Given the description of an element on the screen output the (x, y) to click on. 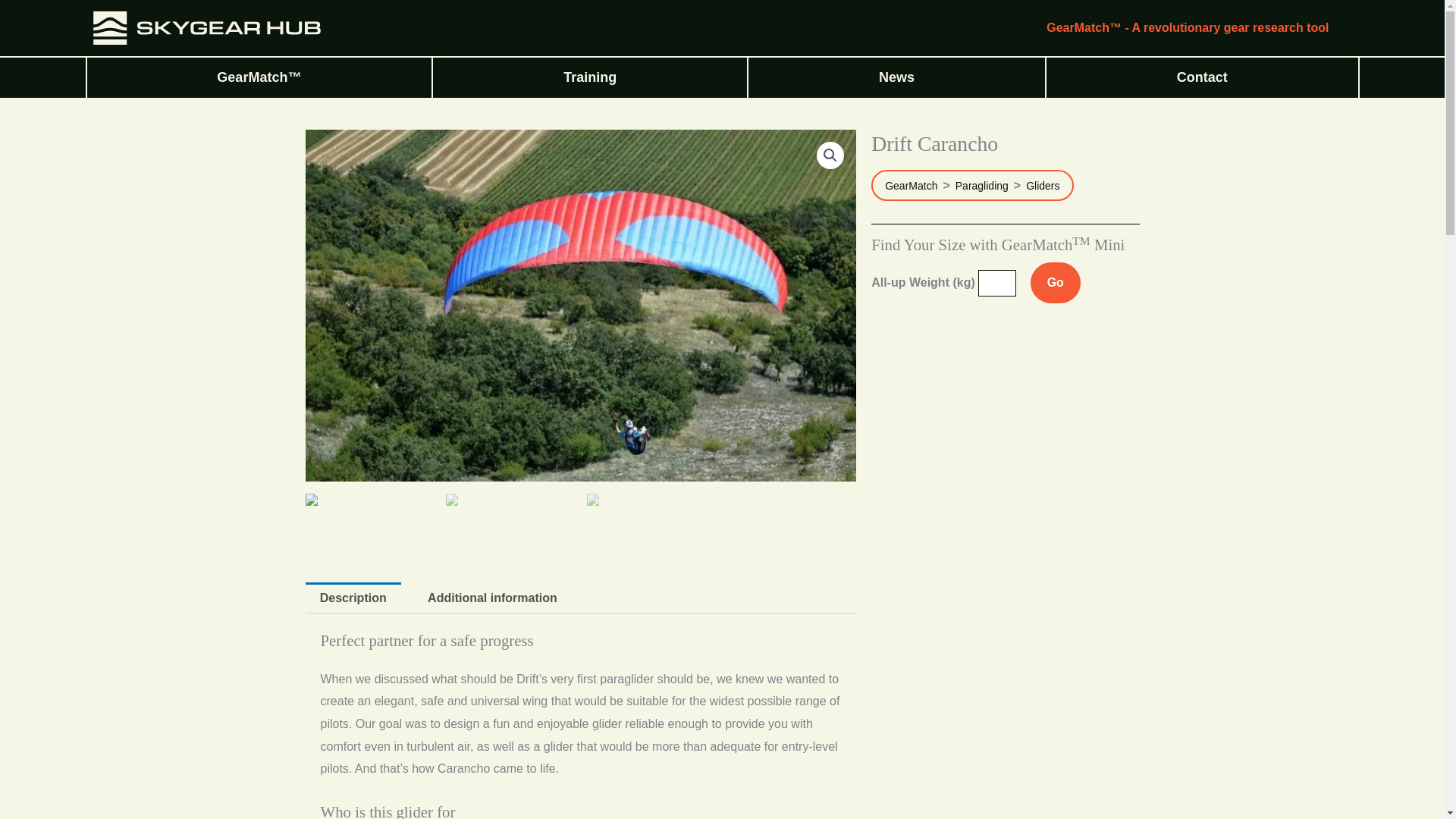
Training (589, 77)
Paragliding (982, 185)
Contact (1202, 77)
Gliders (1042, 185)
Description (352, 598)
Go (1055, 282)
GearMatch (911, 185)
News (896, 77)
Additional information (492, 598)
